Given the description of an element on the screen output the (x, y) to click on. 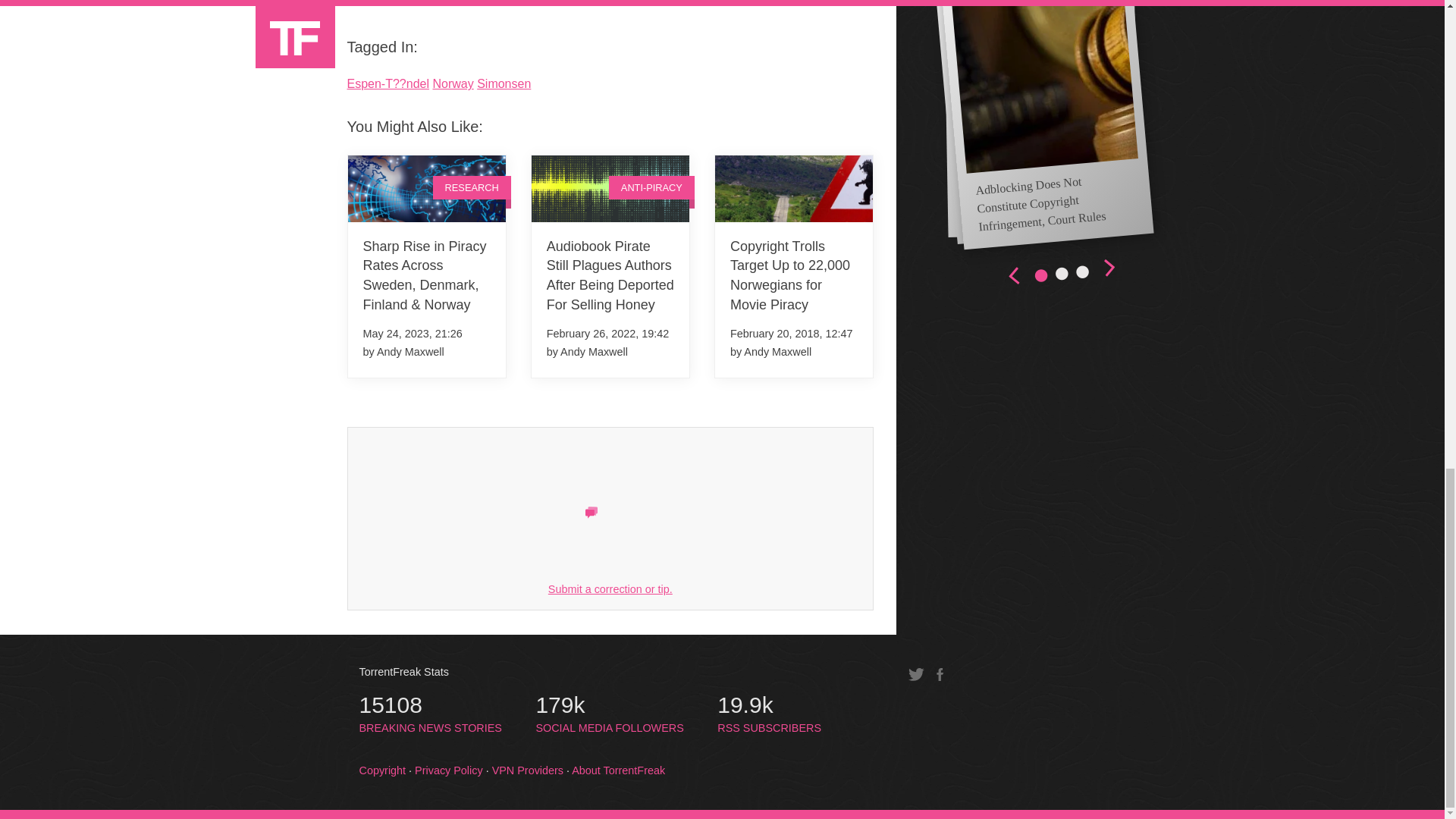
Next Post (380, 6)
Previous Post (830, 6)
Simonsen (504, 83)
Norway (452, 83)
Submit a correction or tip. (610, 589)
Espen-T??ndel (608, 714)
